Given the description of an element on the screen output the (x, y) to click on. 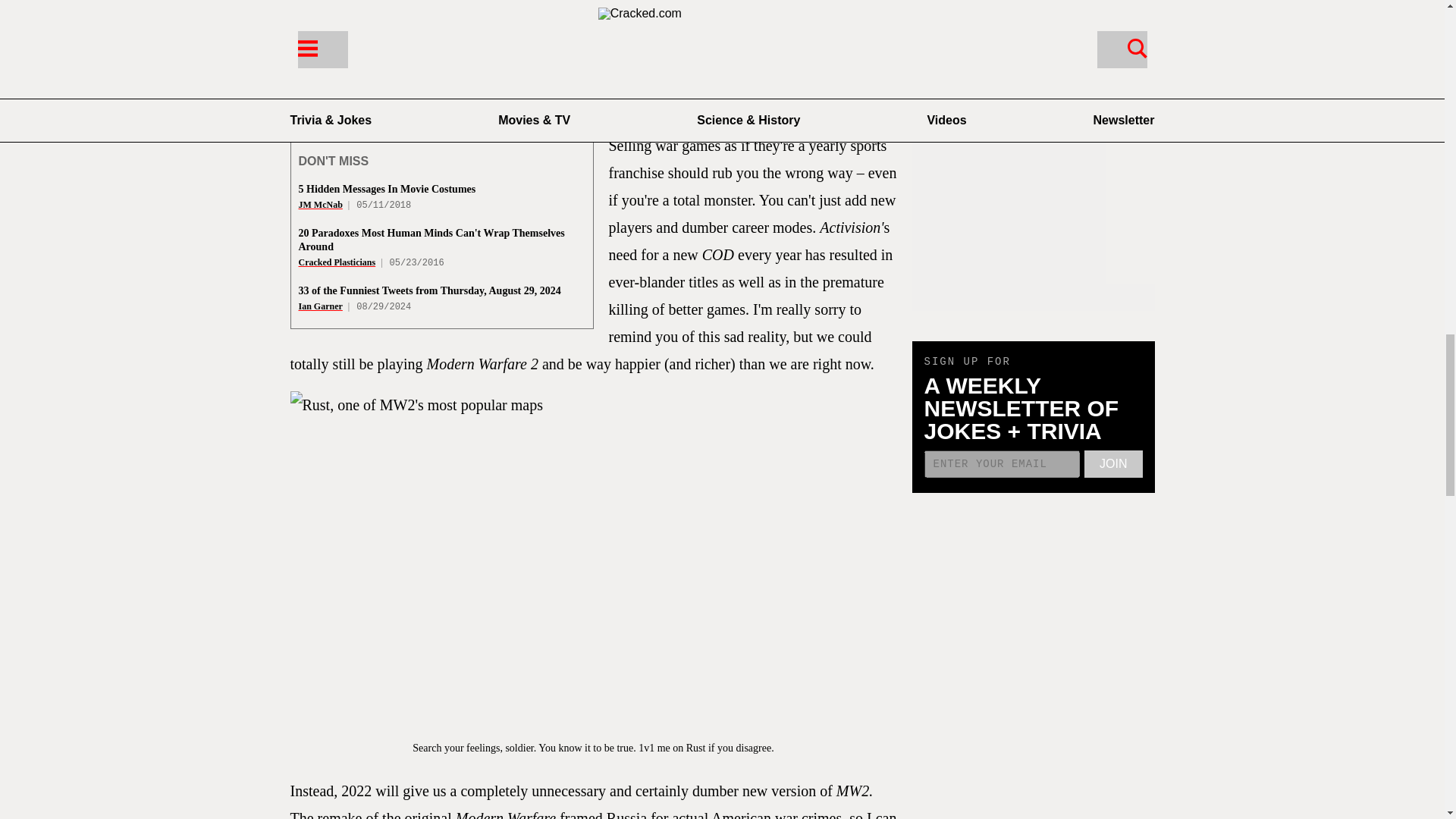
5 Hidden Messages In Movie Costumes (387, 188)
JM McNab (320, 204)
Cracked Plasticians (336, 262)
20 Paradoxes Most Human Minds Can't Wrap Themselves Around (431, 239)
33 of the Funniest Tweets from Thursday, August 29, 2024 (429, 290)
